Given the description of an element on the screen output the (x, y) to click on. 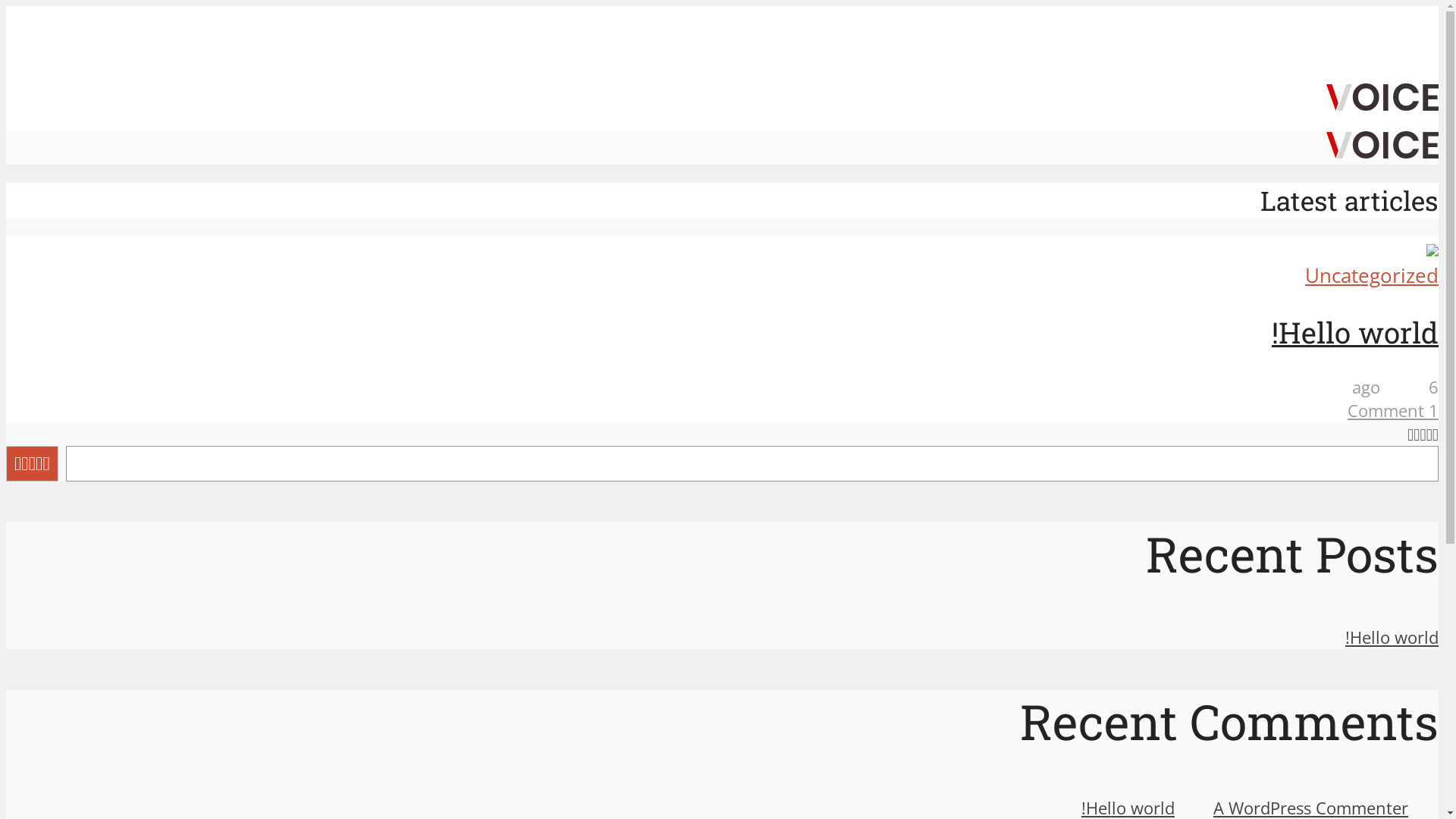
Hello world! Element type: hover (1432, 248)
Hello world! Element type: text (1354, 332)
Uncategorized Element type: text (1371, 275)
1 Comment Element type: text (1392, 410)
Hello world! Element type: text (1391, 637)
